Given the description of an element on the screen output the (x, y) to click on. 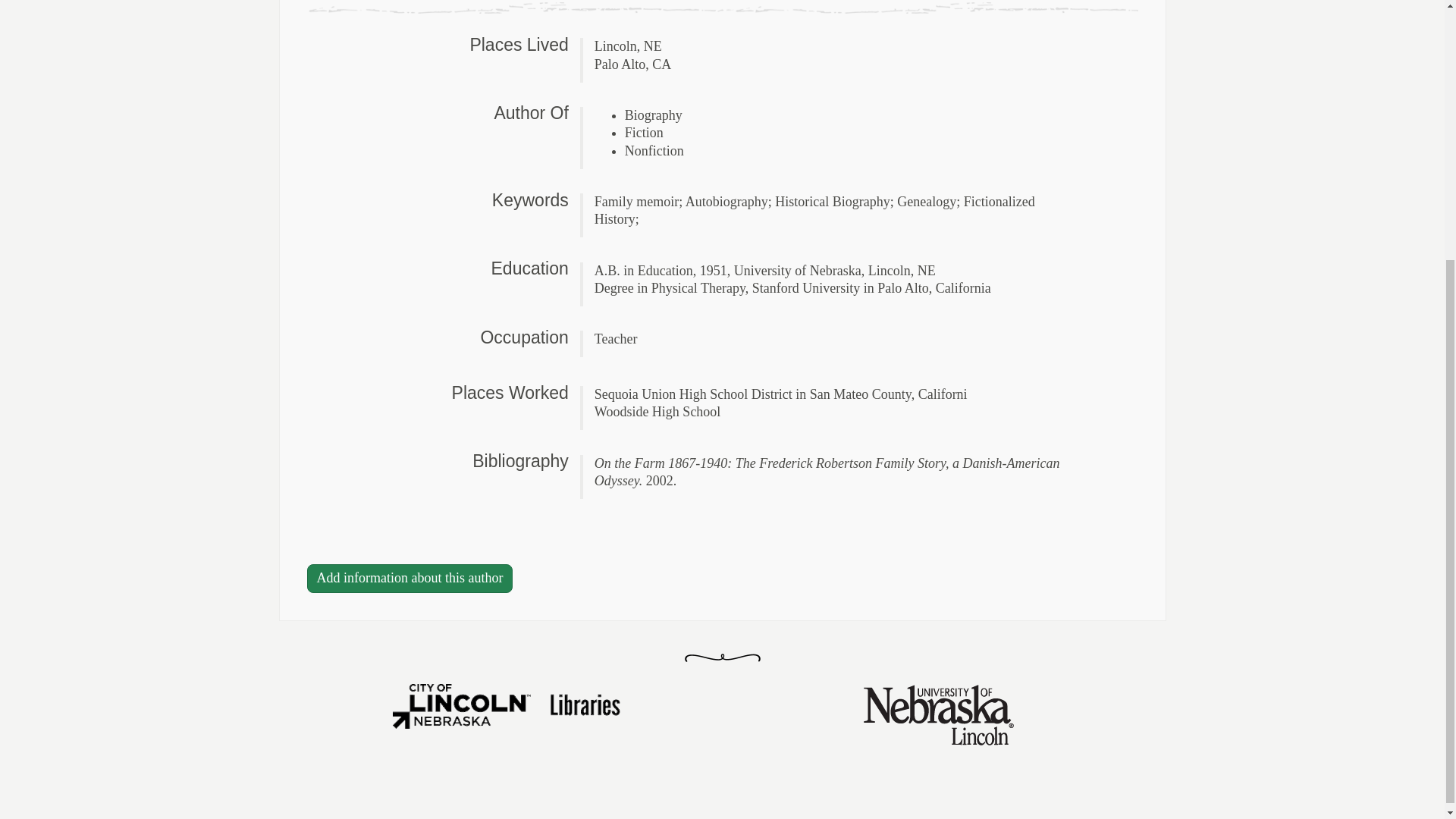
Add information about this author (408, 578)
